Given the description of an element on the screen output the (x, y) to click on. 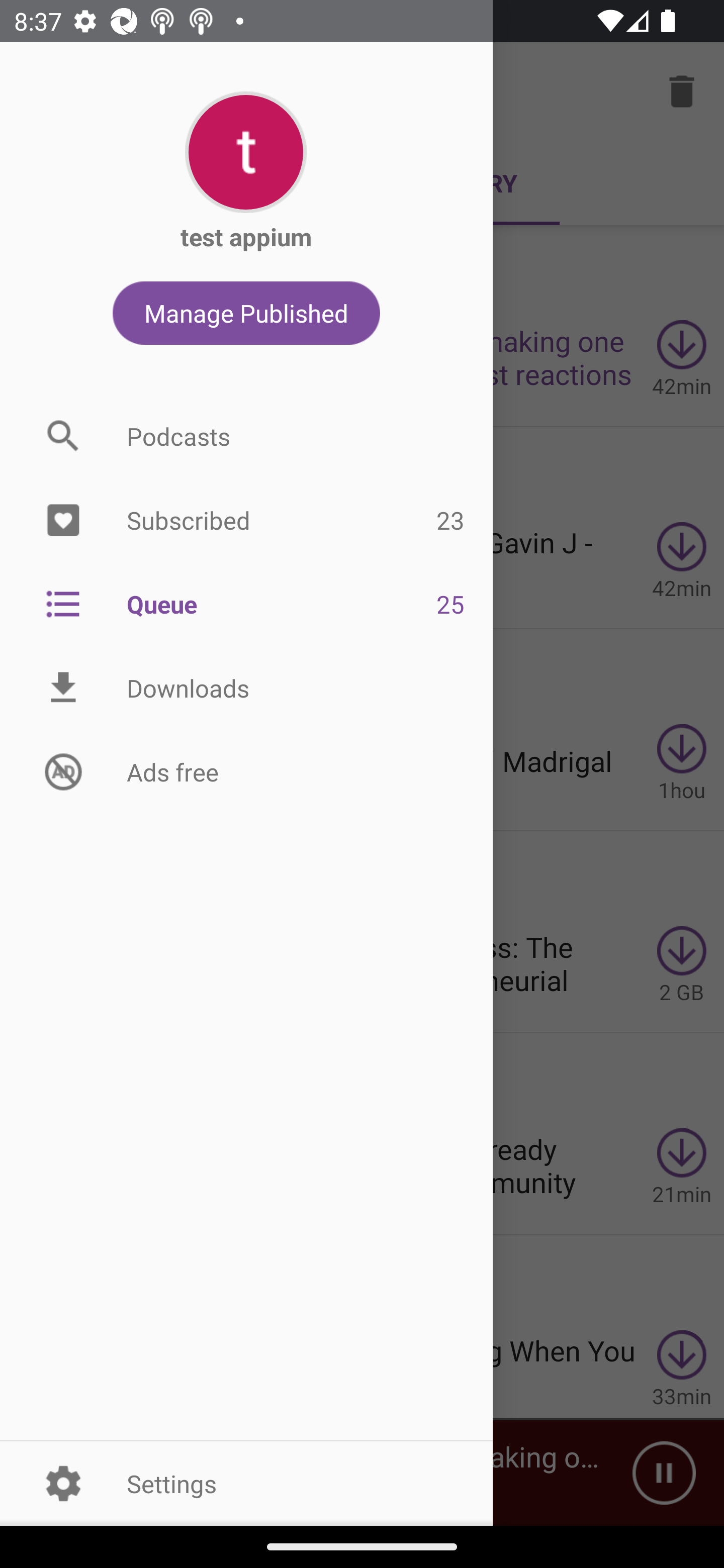
Manage Published (246, 312)
Picture Podcasts (246, 435)
Picture Subscribed 23 (246, 520)
Picture Queue 25 (246, 603)
Picture Downloads (246, 688)
Picture Ads free (246, 771)
Settings Picture Settings (246, 1482)
